Given the description of an element on the screen output the (x, y) to click on. 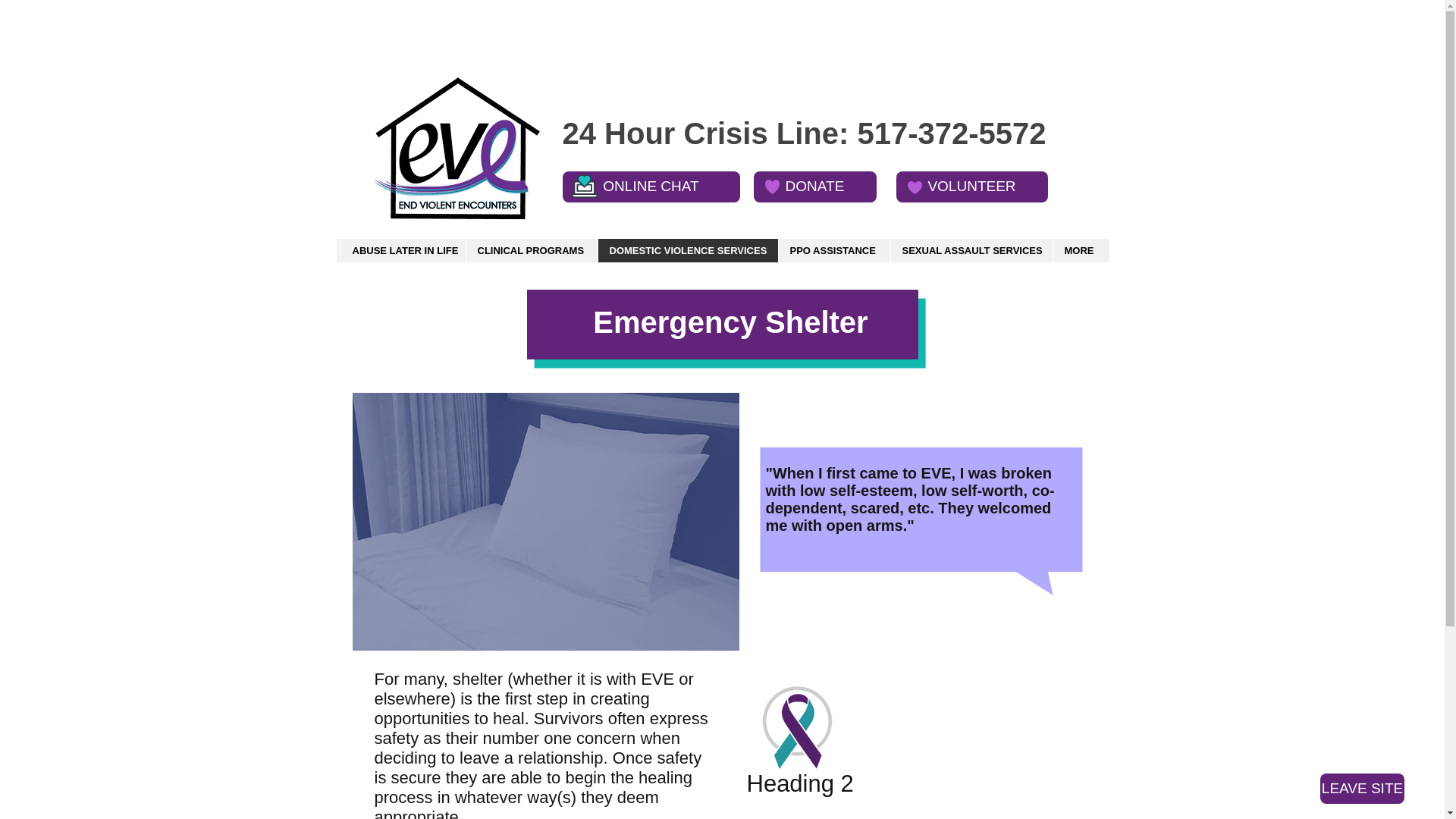
External YouTube (907, 741)
VOLUNTEER (972, 186)
LEAVE SITE (1362, 788)
CLINICAL PROGRAMS (530, 250)
Hotel bed pillows (545, 521)
DOMESTIC VIOLENCE SERVICES (686, 250)
DONATE (815, 186)
PPO ASSISTANCE (833, 250)
SEXUAL ASSAULT SERVICES (970, 250)
ABUSE LATER IN LIFE (401, 250)
Teal and Purple ribbon.png (797, 727)
ONLINE CHAT (650, 186)
